Given the description of an element on the screen output the (x, y) to click on. 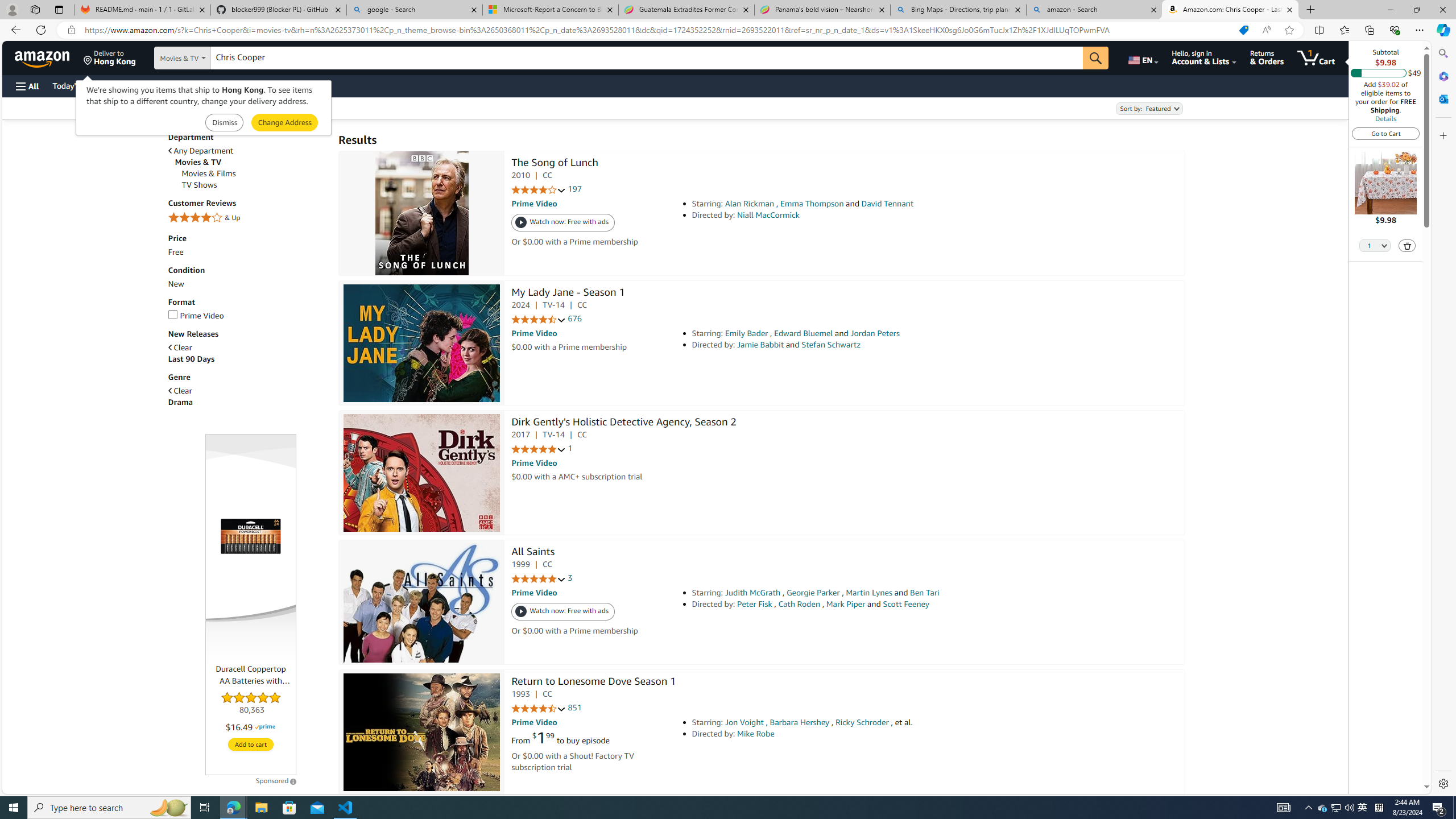
Customer Service (145, 85)
Change Address (284, 122)
Niall MacCormick (767, 214)
David Tennant (887, 203)
851 (574, 707)
Go (1096, 57)
Martin Lynes (868, 592)
amazon - Search (1094, 9)
Search Amazon (647, 57)
